Given the description of an element on the screen output the (x, y) to click on. 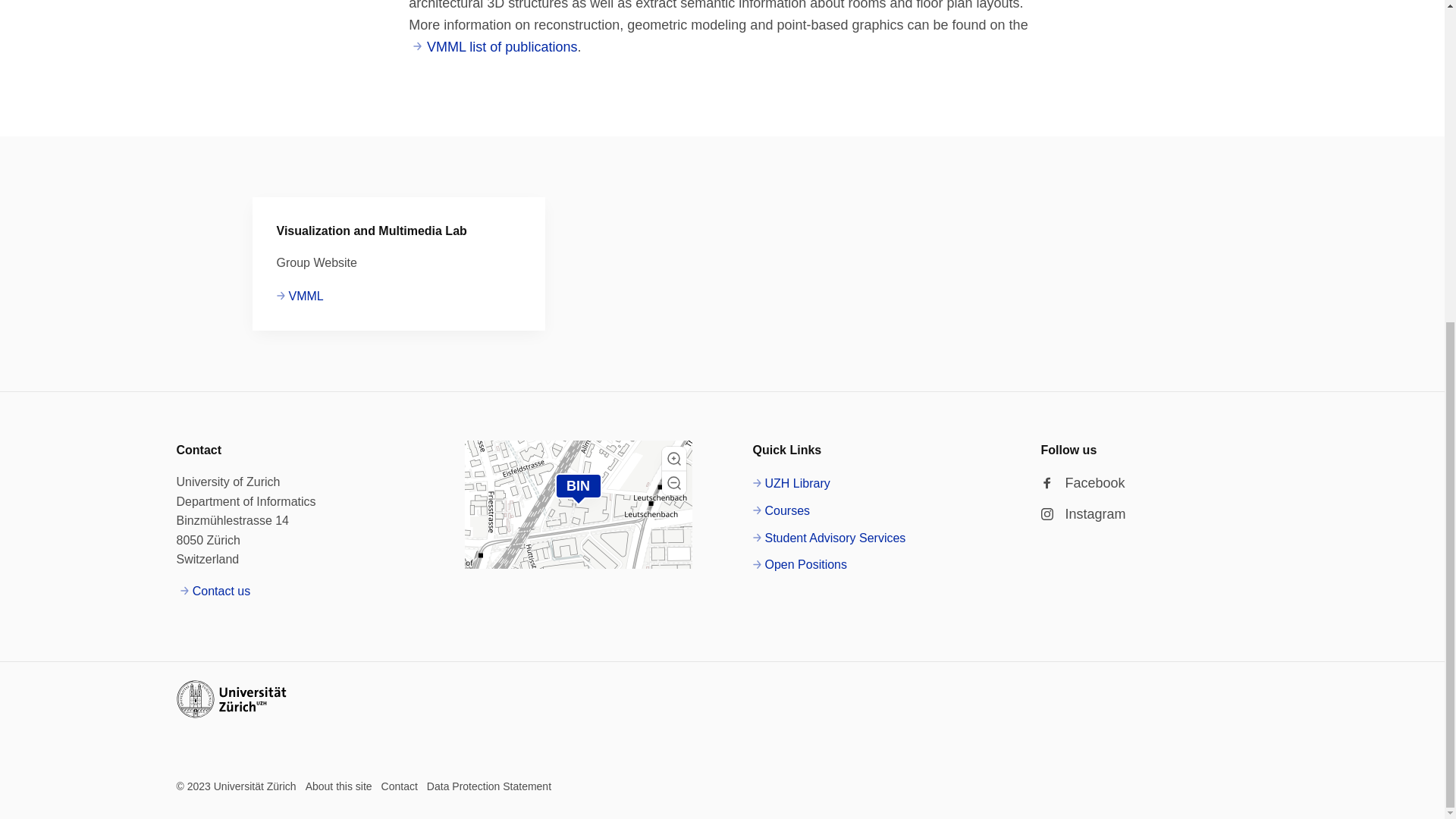
BIN (577, 486)
Zoom in (673, 458)
Zoom out (673, 482)
Student Advisory Services (828, 537)
UZH Library (790, 483)
VMML (299, 296)
Courses (780, 510)
Open Positions (799, 564)
